Given the description of an element on the screen output the (x, y) to click on. 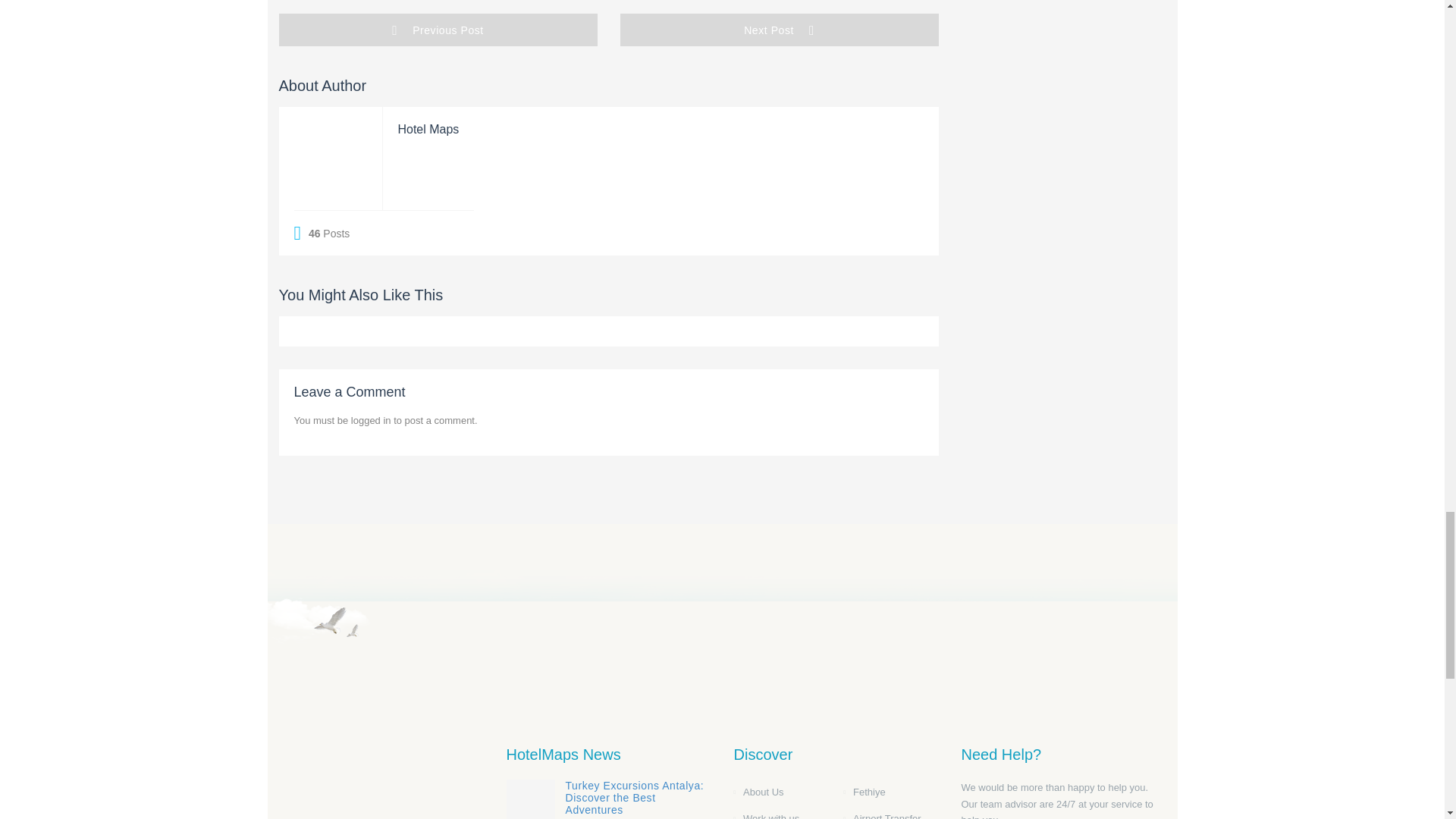
Posts by Hotel Maps (427, 128)
